Given the description of an element on the screen output the (x, y) to click on. 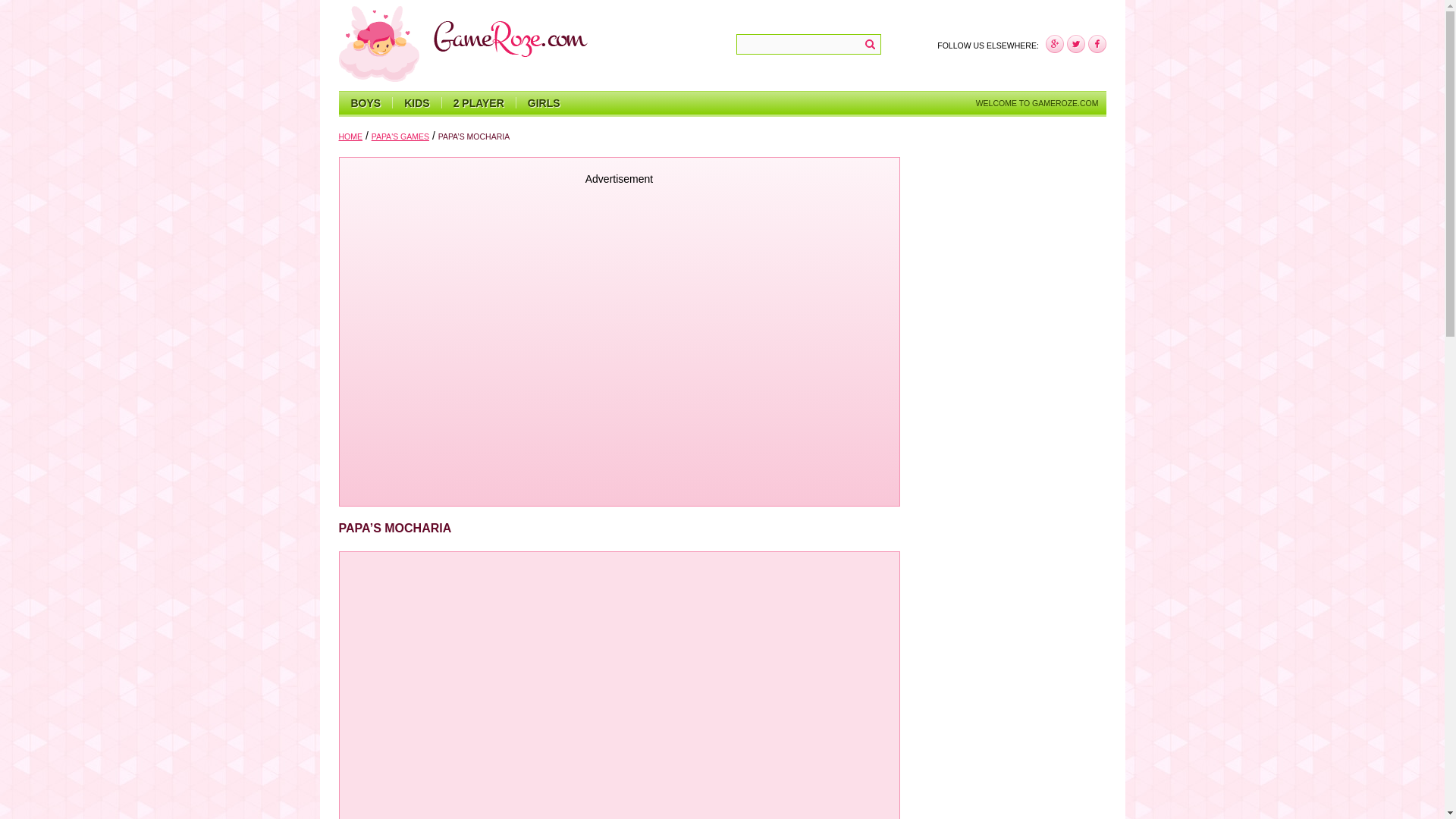
2 PLAYER (478, 102)
KIDS (416, 102)
twitter (1075, 44)
GIRLS (543, 102)
BOYS (365, 102)
WELCOME TO GAMEROZE.COM (1037, 103)
HOME (349, 135)
PAPA'S GAMES (400, 135)
facebook (1054, 44)
